Given the description of an element on the screen output the (x, y) to click on. 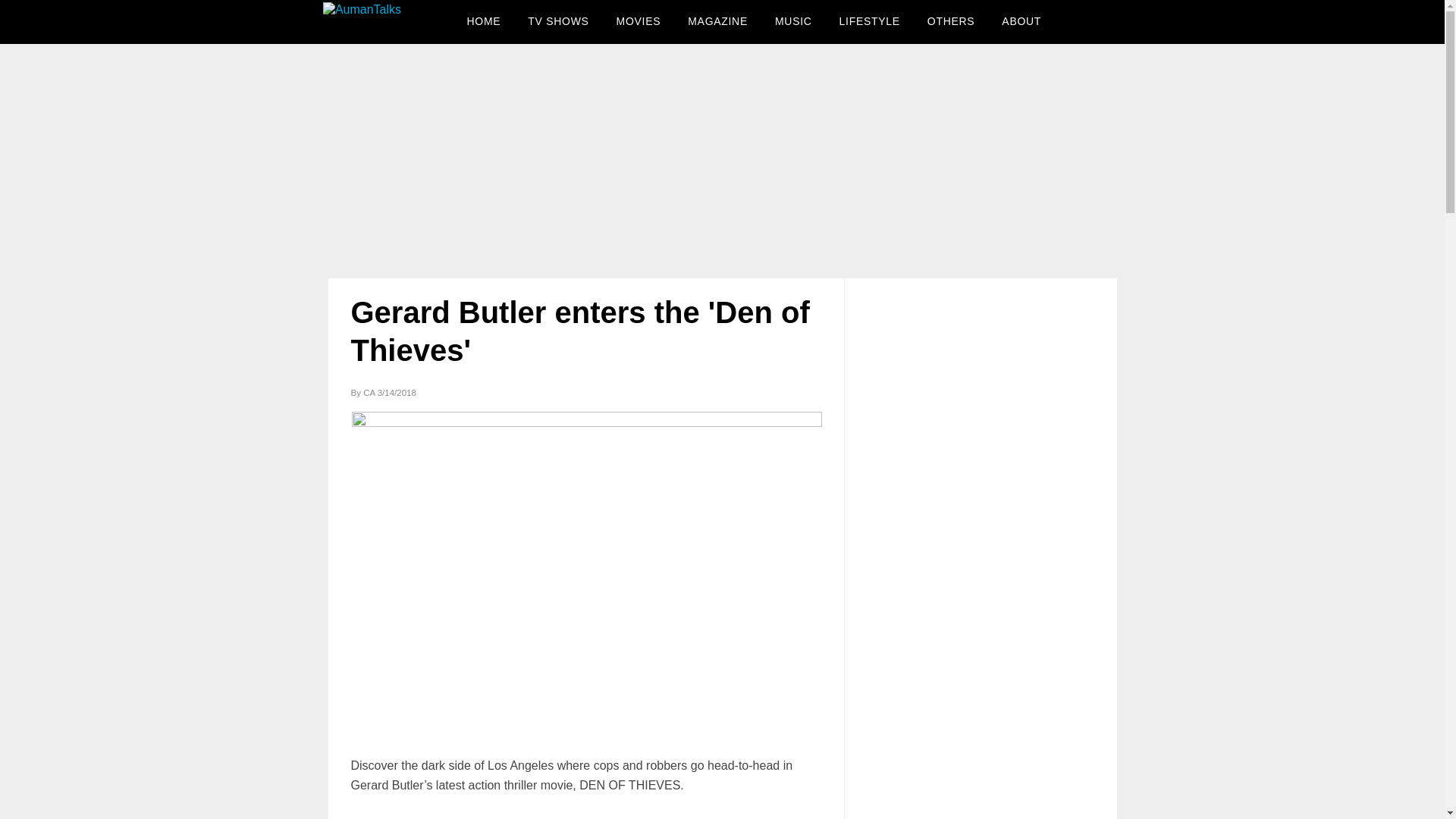
ABOUT (1021, 21)
MOVIES (638, 21)
MUSIC (793, 21)
OTHERS (951, 21)
MAGAZINE (717, 21)
HOME (483, 21)
Gerard Butler enters the 'Den of Thieves' (579, 330)
LIFESTYLE (869, 21)
Gerard Butler enters the 'Den of Thieves' (579, 330)
TV SHOWS (557, 21)
